Given the description of an element on the screen output the (x, y) to click on. 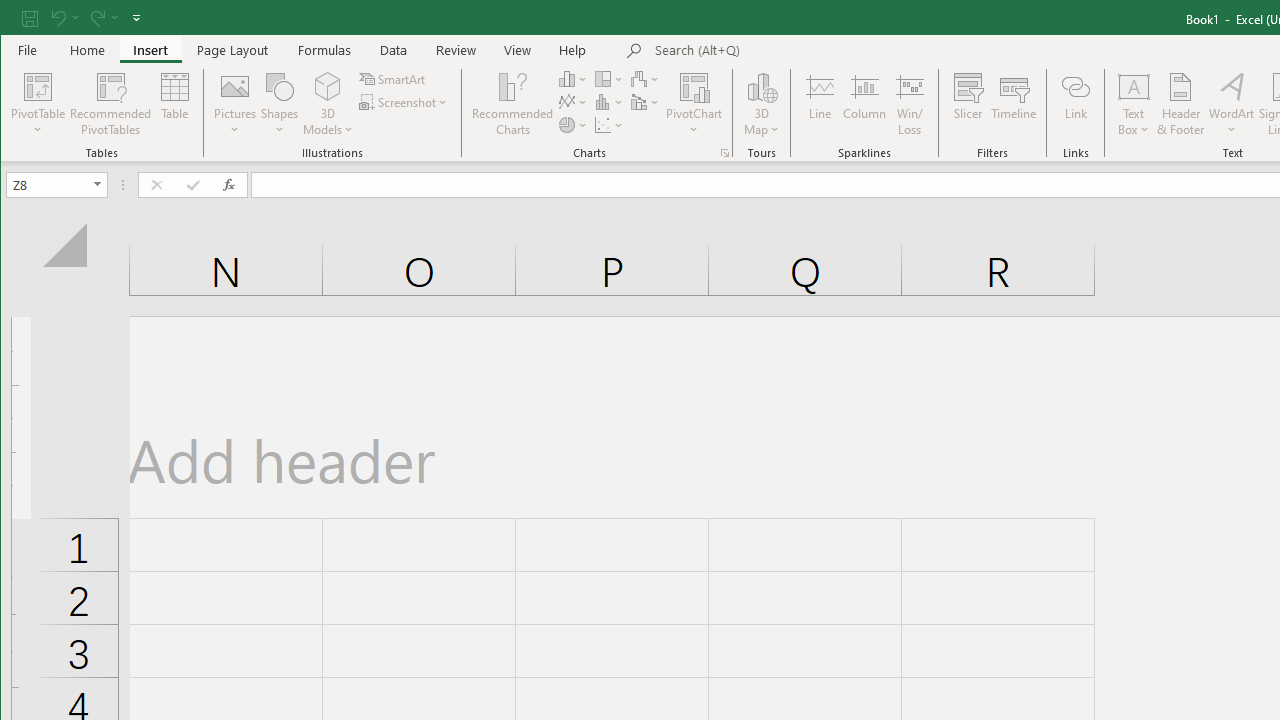
Insert Pie or Doughnut Chart (573, 124)
PivotTable (37, 86)
Insert Scatter (X, Y) or Bubble Chart (609, 124)
Shapes (279, 104)
SmartArt... (393, 78)
